Given the description of an element on the screen output the (x, y) to click on. 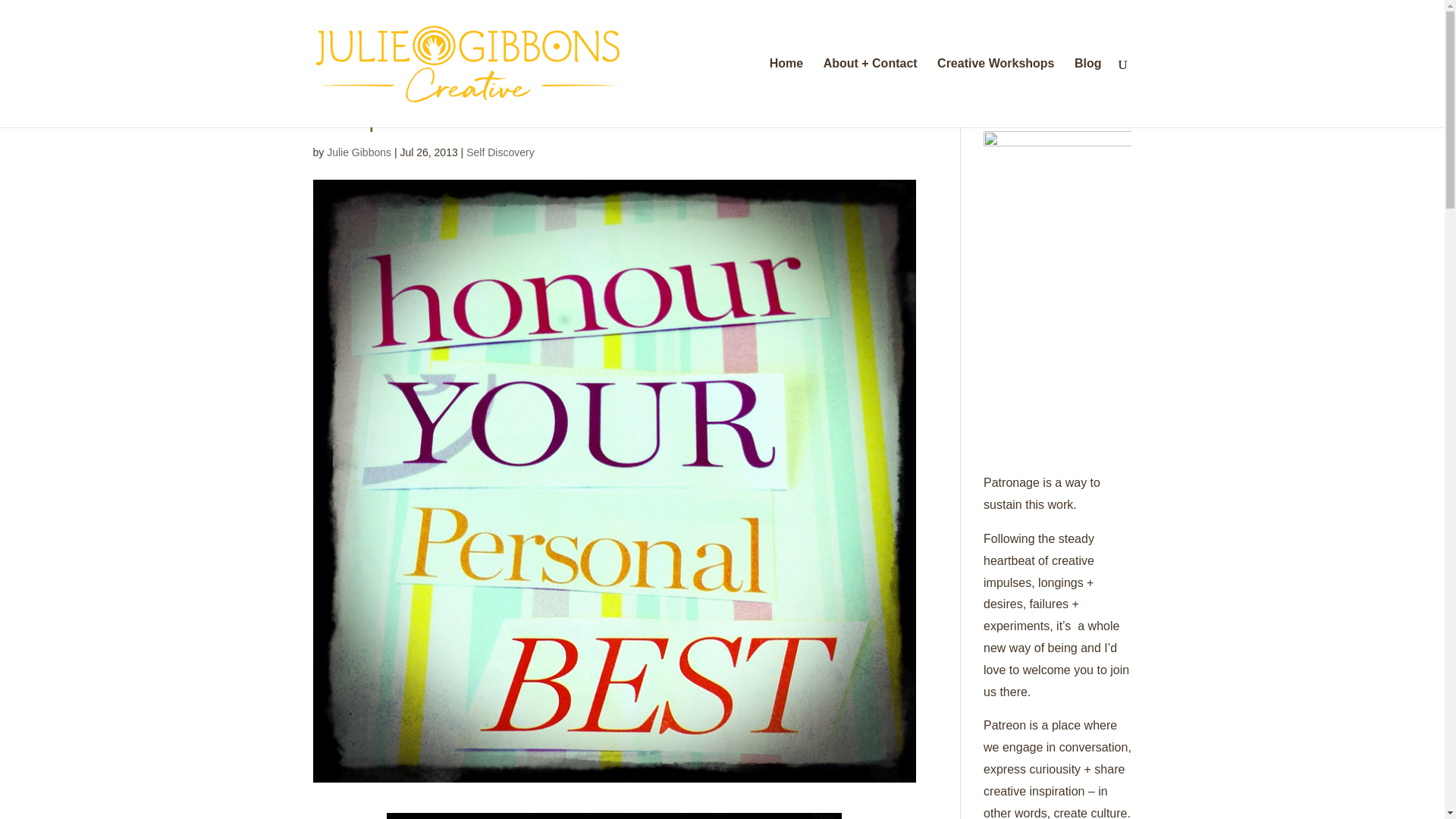
Creative Workshops (995, 92)
Posts by Julie Gibbons (358, 152)
Julie Gibbons (358, 152)
Self Discovery (499, 152)
